Given the description of an element on the screen output the (x, y) to click on. 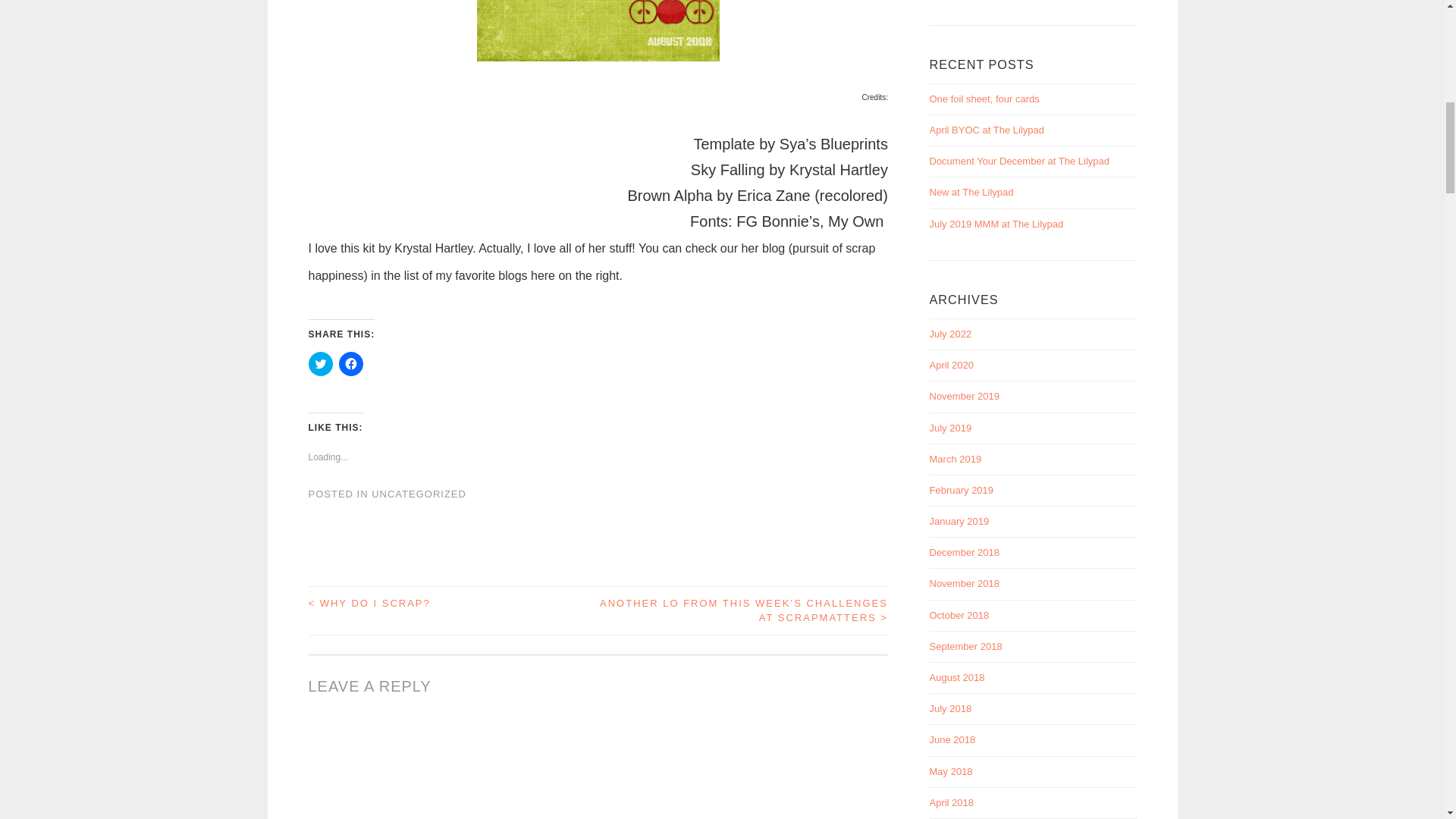
Click to share on Facebook (349, 363)
December 2018 (965, 552)
Click to share on Twitter (319, 363)
November 2019 (965, 396)
November 2018 (965, 583)
January 2019 (960, 521)
April BYOC at The Lilypad (987, 129)
August 2018 (957, 677)
September 2018 (966, 645)
February 2019 (962, 490)
July 2019 (951, 427)
Comment Form (596, 768)
April 2020 (952, 365)
New at The Lilypad (971, 192)
One foil sheet, four cards (984, 98)
